Given the description of an element on the screen output the (x, y) to click on. 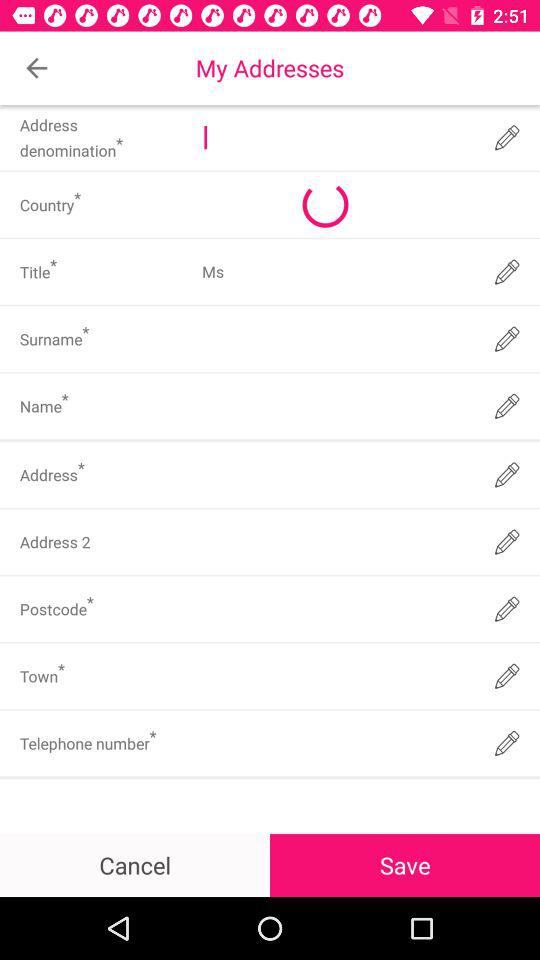
insert address (335, 541)
